Given the description of an element on the screen output the (x, y) to click on. 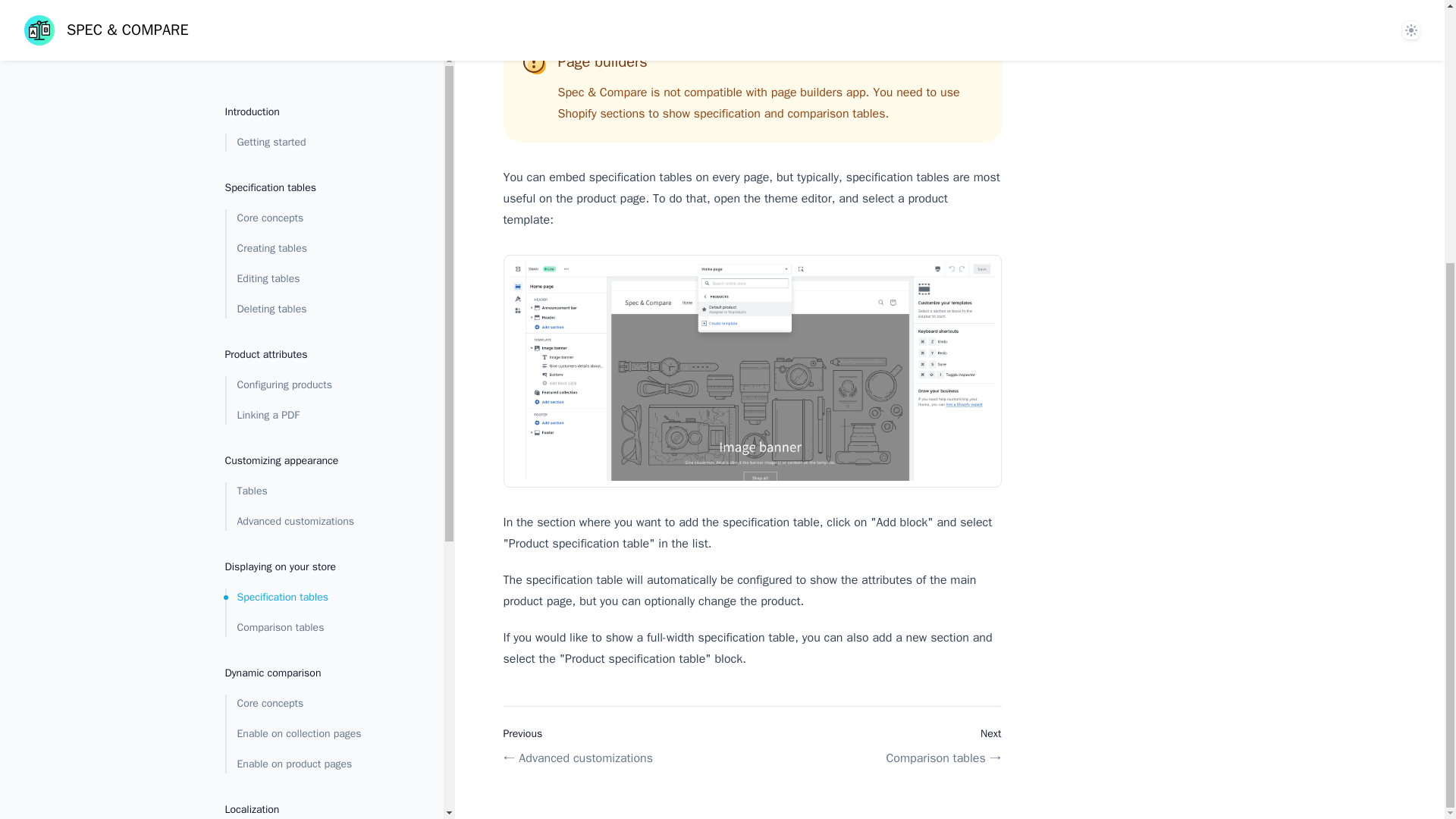
Moving specification tables (309, 740)
Linking a PDF (309, 42)
Translating product attributes (309, 497)
Comparison tables (309, 254)
Creating custom tables (309, 710)
Tables (309, 117)
Enable on product pages (309, 391)
Core concepts (309, 330)
Translating tables (309, 466)
Configuring products (309, 12)
Advanced customizations (309, 148)
Required permissions (309, 573)
FAQ (309, 603)
Changelog (309, 633)
Specification tables (309, 224)
